Given the description of an element on the screen output the (x, y) to click on. 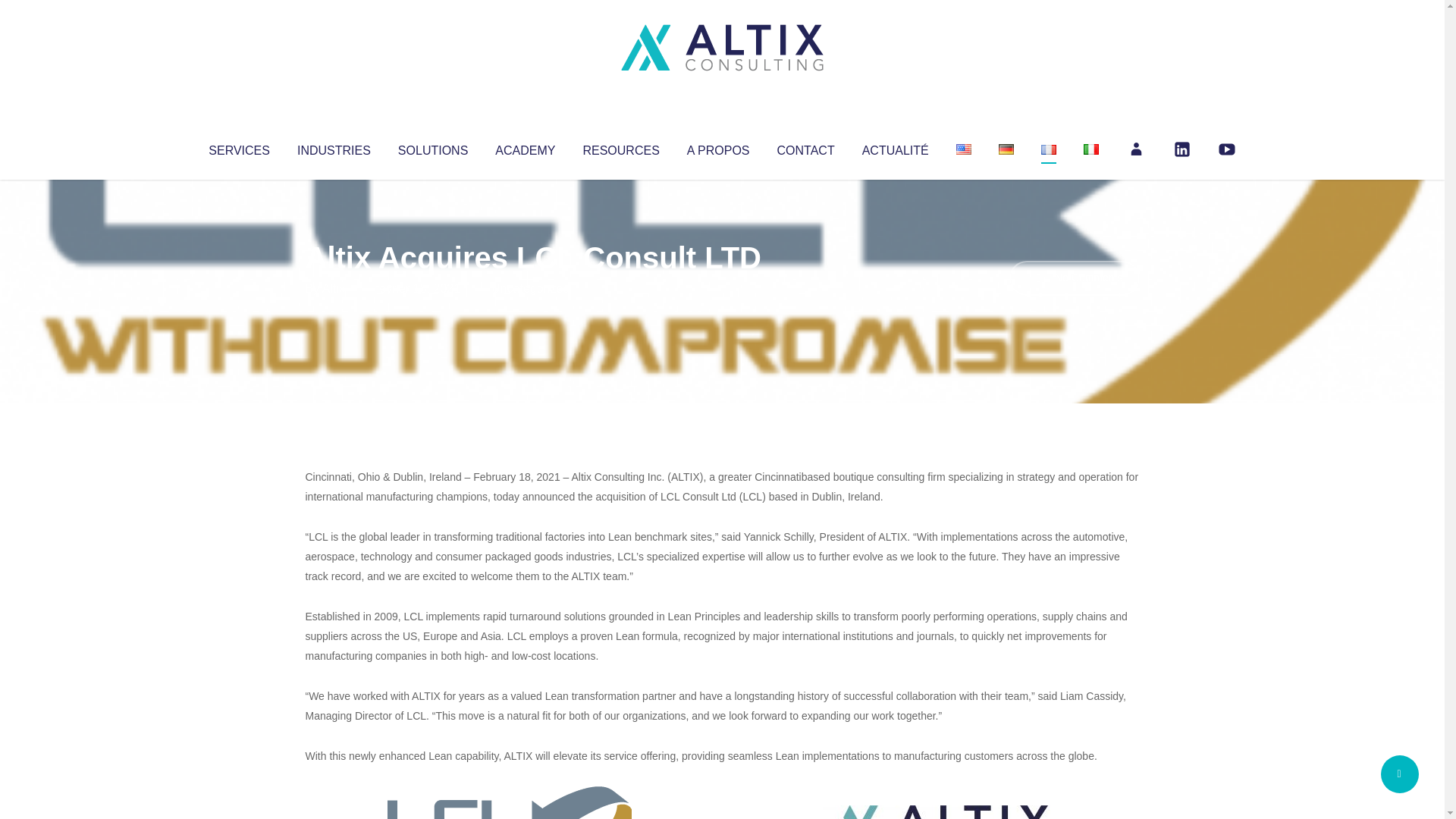
Altix (333, 287)
No Comments (1073, 278)
ACADEMY (524, 146)
RESOURCES (620, 146)
Articles par Altix (333, 287)
A PROPOS (718, 146)
SOLUTIONS (432, 146)
Uncategorized (530, 287)
SERVICES (238, 146)
INDUSTRIES (334, 146)
